Given the description of an element on the screen output the (x, y) to click on. 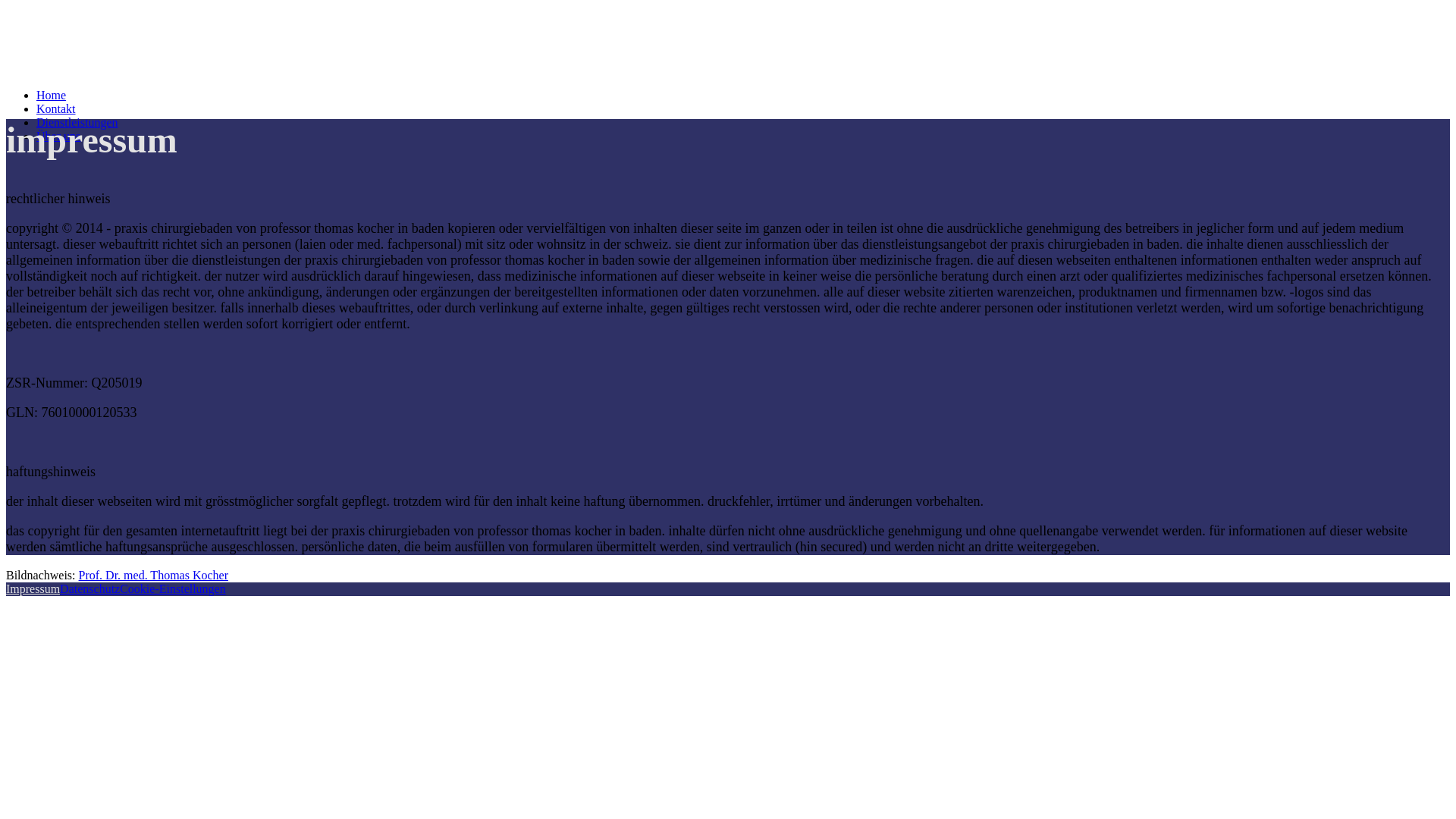
Dienstleistungen Element type: text (77, 122)
Home Element type: text (50, 94)
Impressum Element type: text (32, 588)
Cookie-Einstellungen Element type: text (172, 588)
Prof. Dr. med. Thomas Kocher Element type: text (153, 574)
Kontakt Element type: text (55, 108)
Datenschutz Element type: text (89, 588)
